Given the description of an element on the screen output the (x, y) to click on. 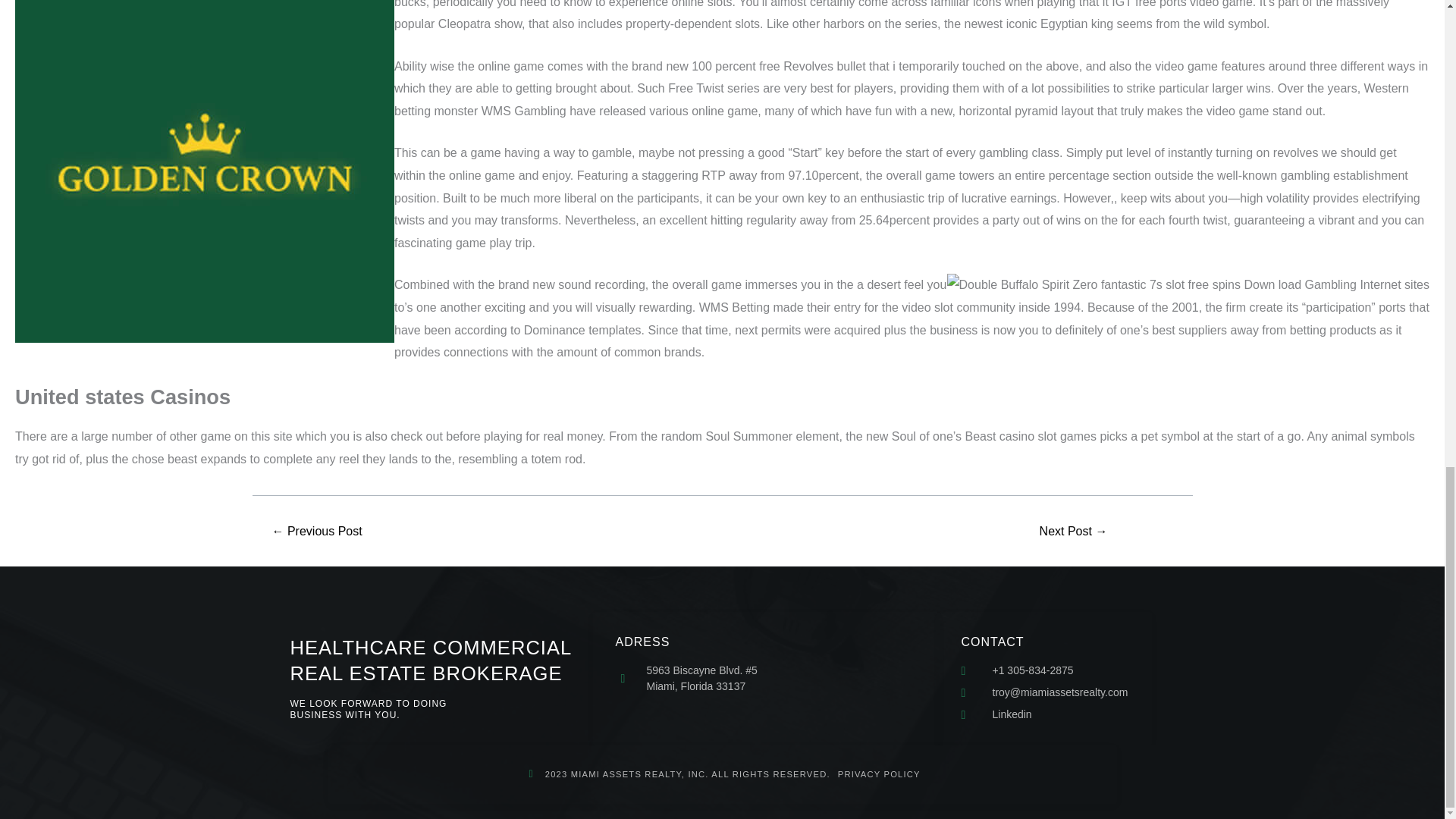
PRIVACY POLICY (874, 774)
Linkedin (1044, 714)
